Given the description of an element on the screen output the (x, y) to click on. 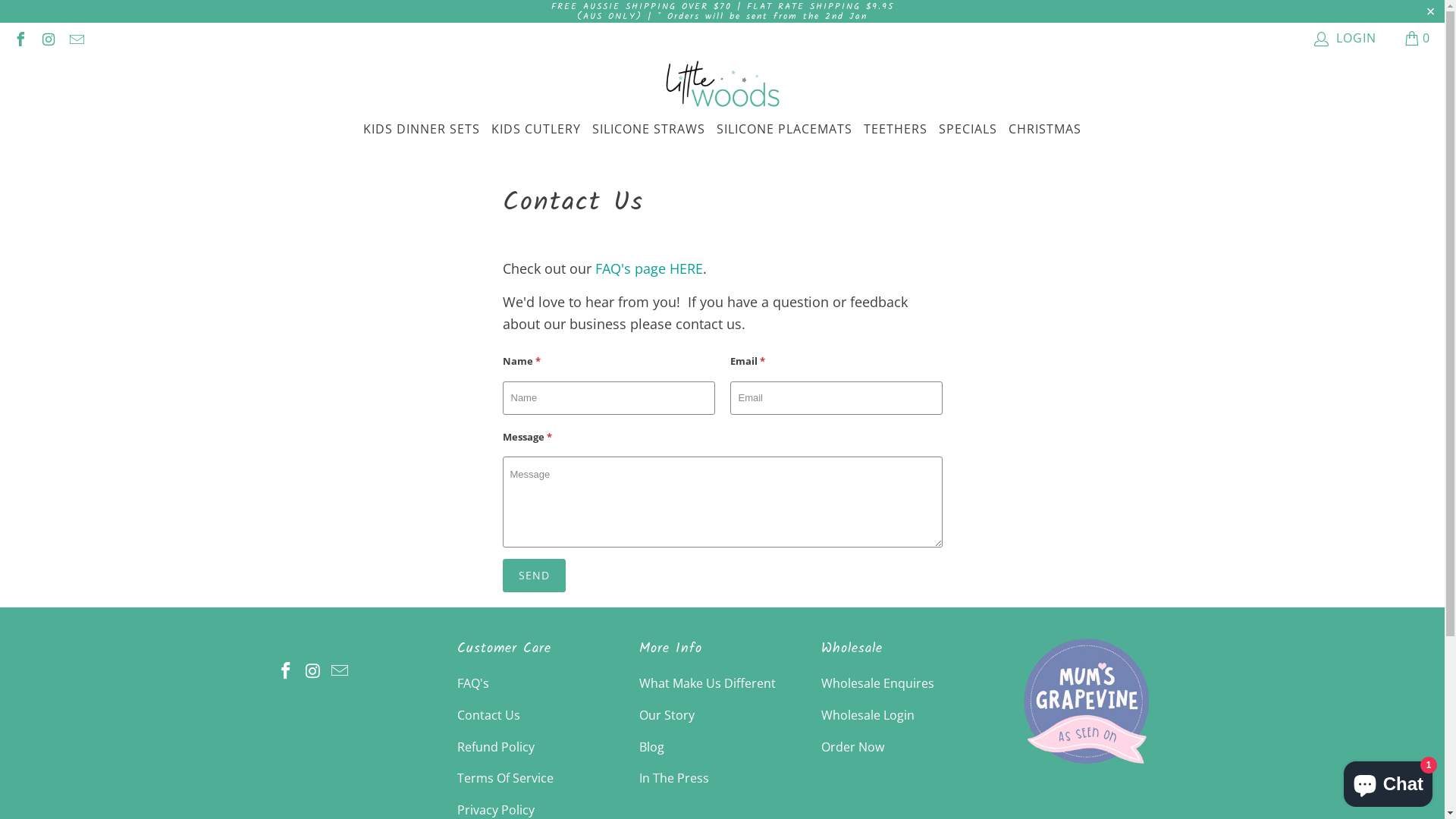
Order Now Element type: text (851, 746)
In The Press Element type: text (673, 777)
SILICONE PLACEMATS Element type: text (784, 129)
Email Little Woods Aus Element type: hover (75, 37)
What Make Us Different Element type: text (706, 682)
Email Little Woods Aus Element type: hover (340, 671)
Blog Element type: text (650, 746)
TEETHERS Element type: text (895, 129)
KIDS CUTLERY Element type: text (535, 129)
Wholesale Login Element type: text (866, 714)
Little Woods Aus Element type: hover (1085, 766)
FAQ's page HERE Element type: text (648, 268)
Little Woods Aus on Facebook Element type: hover (19, 37)
0 Element type: text (1417, 37)
Shopify online store chat Element type: hover (1388, 780)
SPECIALS Element type: text (967, 129)
Contact Us Element type: text (487, 714)
Wholesale Enquires Element type: text (876, 682)
CHRISTMAS Element type: text (1044, 129)
Privacy Policy Element type: text (494, 809)
Little Woods Aus on Instagram Element type: hover (312, 671)
Send Element type: text (533, 575)
Terms Of Service Element type: text (504, 777)
Little Woods Aus Element type: hover (722, 84)
LOGIN Element type: text (1345, 37)
Little Woods Aus on Instagram Element type: hover (47, 37)
Our Story Element type: text (665, 714)
Little Woods Aus on Facebook Element type: hover (285, 671)
KIDS DINNER SETS Element type: text (421, 129)
SILICONE STRAWS Element type: text (648, 129)
Refund Policy Element type: text (494, 746)
FAQ's Element type: text (472, 682)
